Given the description of an element on the screen output the (x, y) to click on. 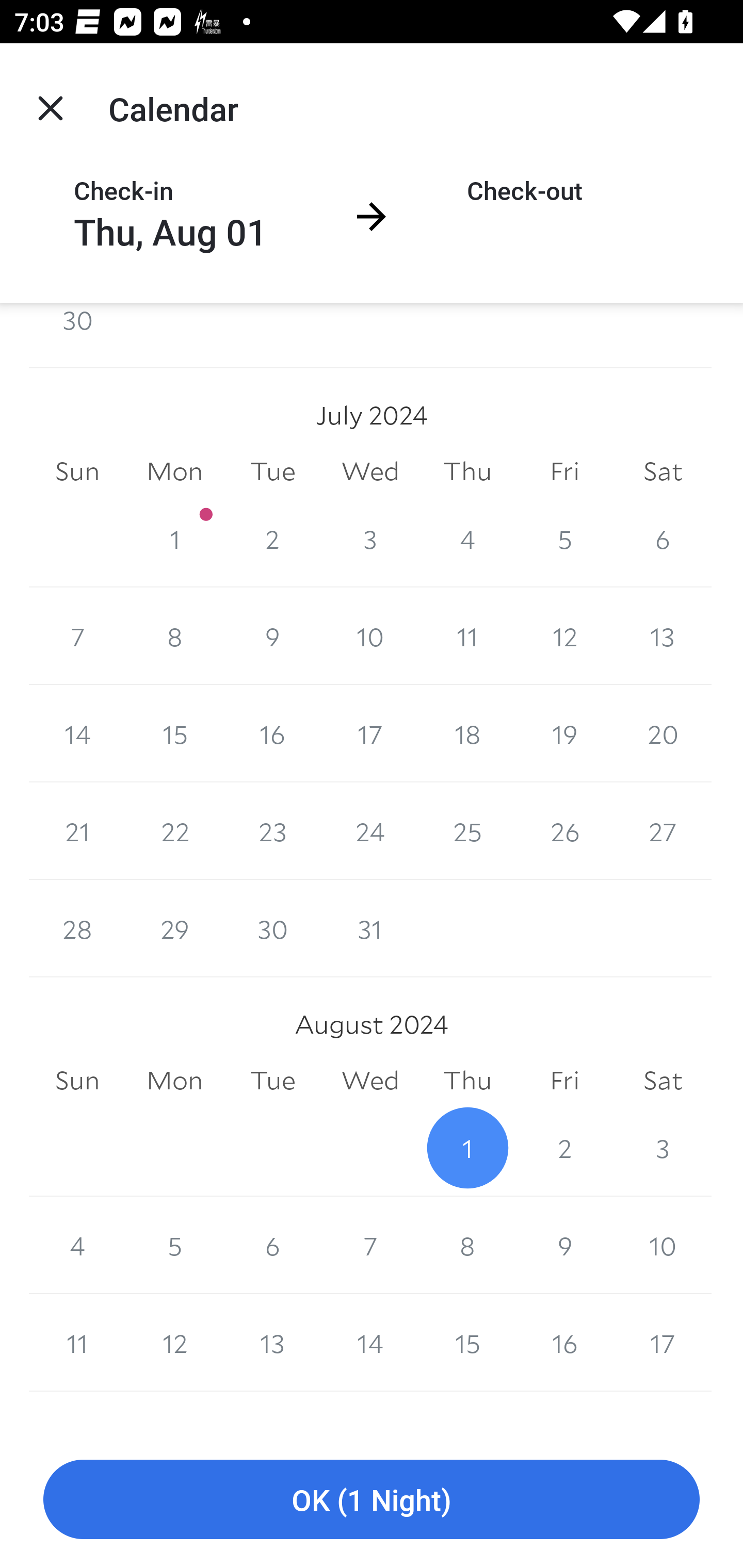
30 30 June 2024 (77, 335)
Sun (77, 471)
Mon (174, 471)
Tue (272, 471)
Wed (370, 471)
Thu (467, 471)
Fri (564, 471)
Sat (662, 471)
1 1 July 2024 (174, 538)
2 2 July 2024 (272, 538)
3 3 July 2024 (370, 538)
4 4 July 2024 (467, 538)
5 5 July 2024 (564, 538)
6 6 July 2024 (662, 538)
7 7 July 2024 (77, 636)
8 8 July 2024 (174, 636)
9 9 July 2024 (272, 636)
10 10 July 2024 (370, 636)
11 11 July 2024 (467, 636)
12 12 July 2024 (564, 636)
13 13 July 2024 (662, 636)
14 14 July 2024 (77, 733)
15 15 July 2024 (174, 733)
16 16 July 2024 (272, 733)
17 17 July 2024 (370, 733)
18 18 July 2024 (467, 733)
19 19 July 2024 (564, 733)
20 20 July 2024 (662, 733)
21 21 July 2024 (77, 830)
22 22 July 2024 (174, 830)
23 23 July 2024 (272, 830)
24 24 July 2024 (370, 830)
25 25 July 2024 (467, 830)
26 26 July 2024 (564, 830)
27 27 July 2024 (662, 830)
28 28 July 2024 (77, 927)
29 29 July 2024 (174, 927)
30 30 July 2024 (272, 927)
31 31 July 2024 (370, 927)
Sun (77, 1080)
Mon (174, 1080)
Tue (272, 1080)
Wed (370, 1080)
Thu (467, 1080)
Fri (564, 1080)
Sat (662, 1080)
1 1 August 2024 (467, 1147)
2 2 August 2024 (564, 1147)
3 3 August 2024 (662, 1147)
